Given the description of an element on the screen output the (x, y) to click on. 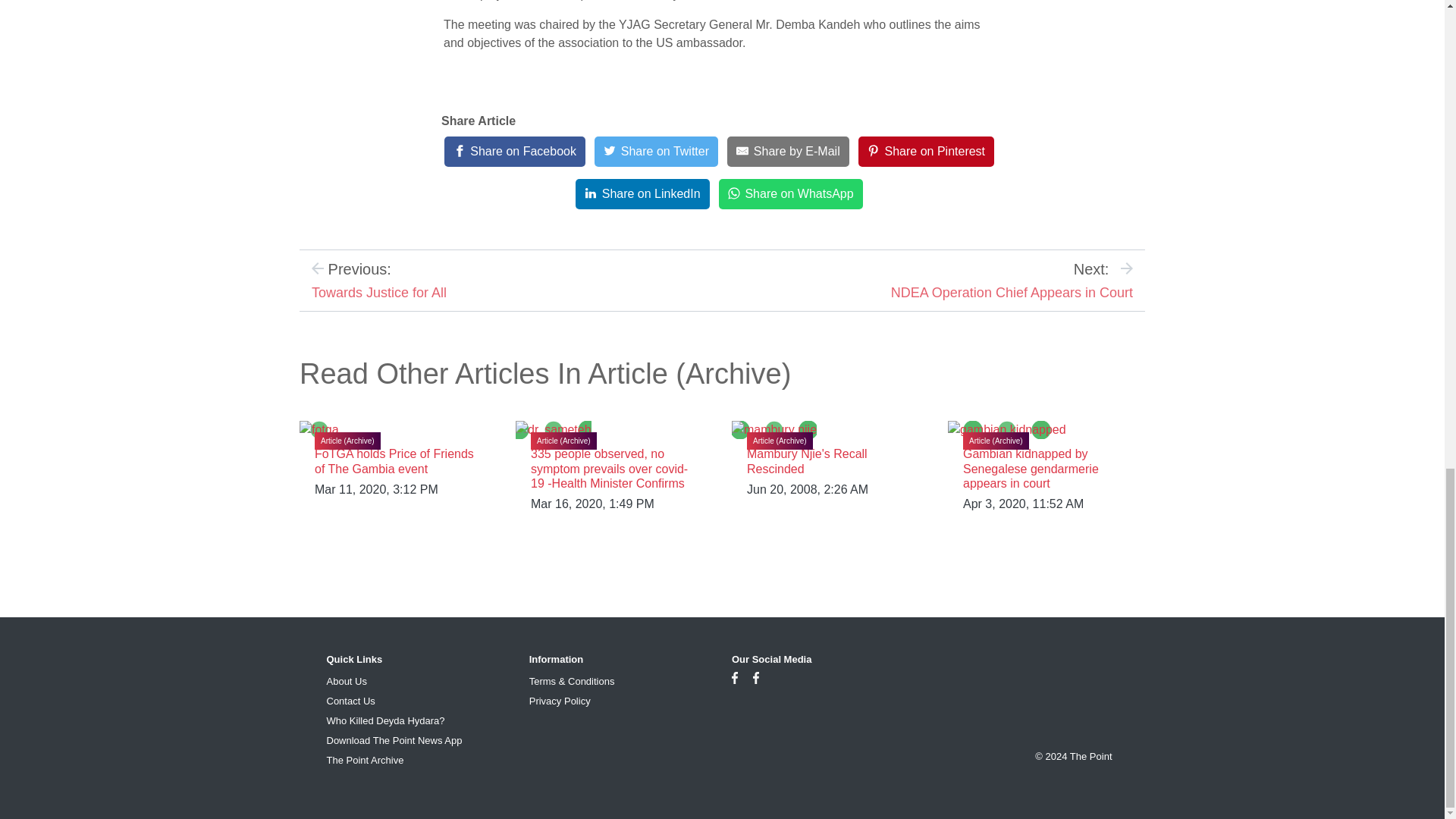
Share on LinkedIn (642, 194)
Share on Twitter (655, 151)
NDEA Operation Chief Appears in Court (1011, 292)
Go to NDEA Operation Chief Appears in Court (1011, 292)
Share on Facebook (514, 151)
Share on WhatsApp (791, 194)
Share by E-Mail (787, 151)
Go to Towards Justice for All (378, 292)
Mambury Njie's Recall Rescinded (806, 461)
